Given the description of an element on the screen output the (x, y) to click on. 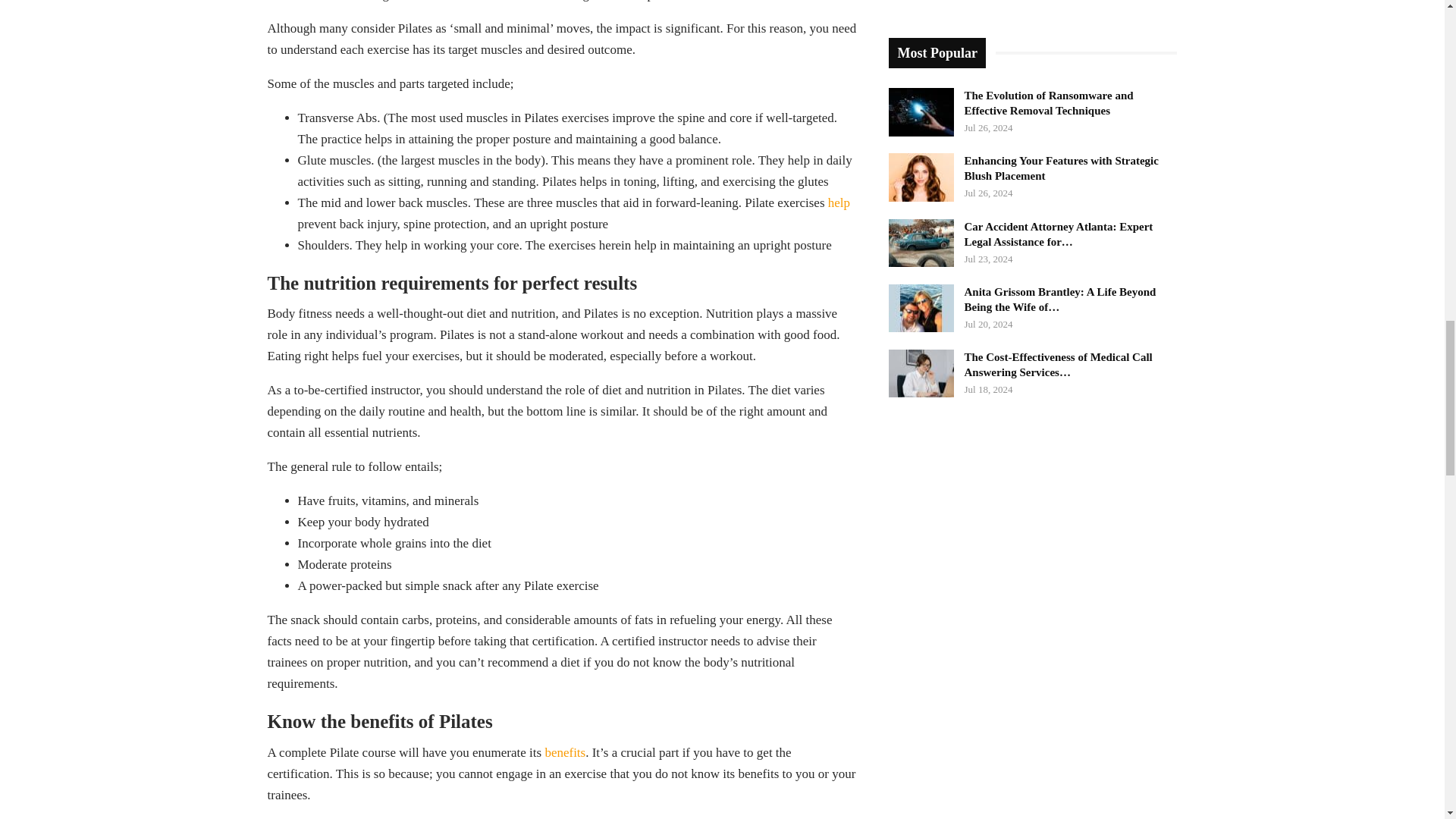
help (839, 202)
